Given the description of an element on the screen output the (x, y) to click on. 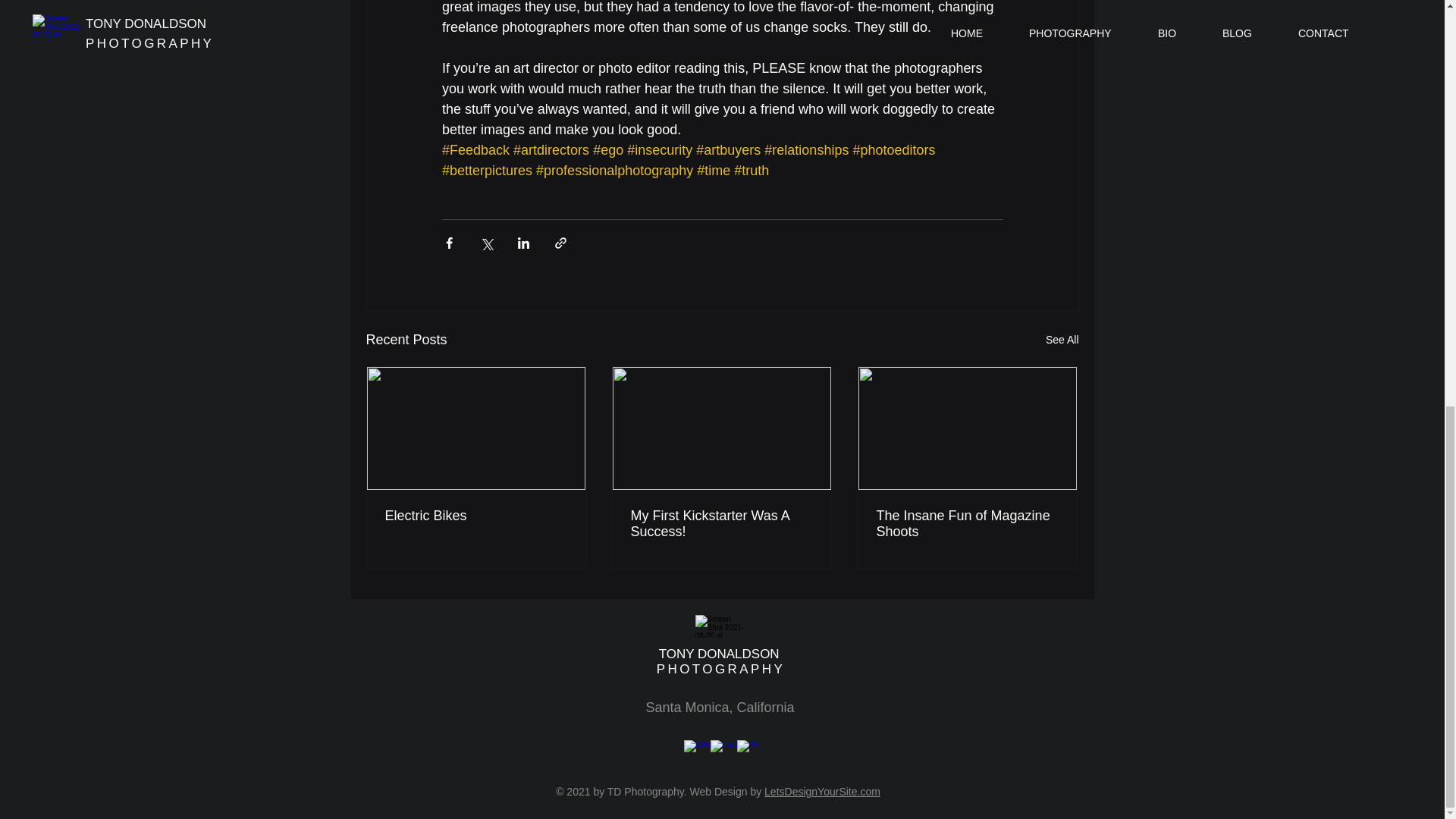
Electric Bikes (476, 515)
TONY DONALDSON  (721, 653)
PHOTOGRAPHY (720, 668)
My First Kickstarter Was A Success! (721, 523)
See All (1061, 340)
The Insane Fun of Magazine Shoots (967, 523)
